Given the description of an element on the screen output the (x, y) to click on. 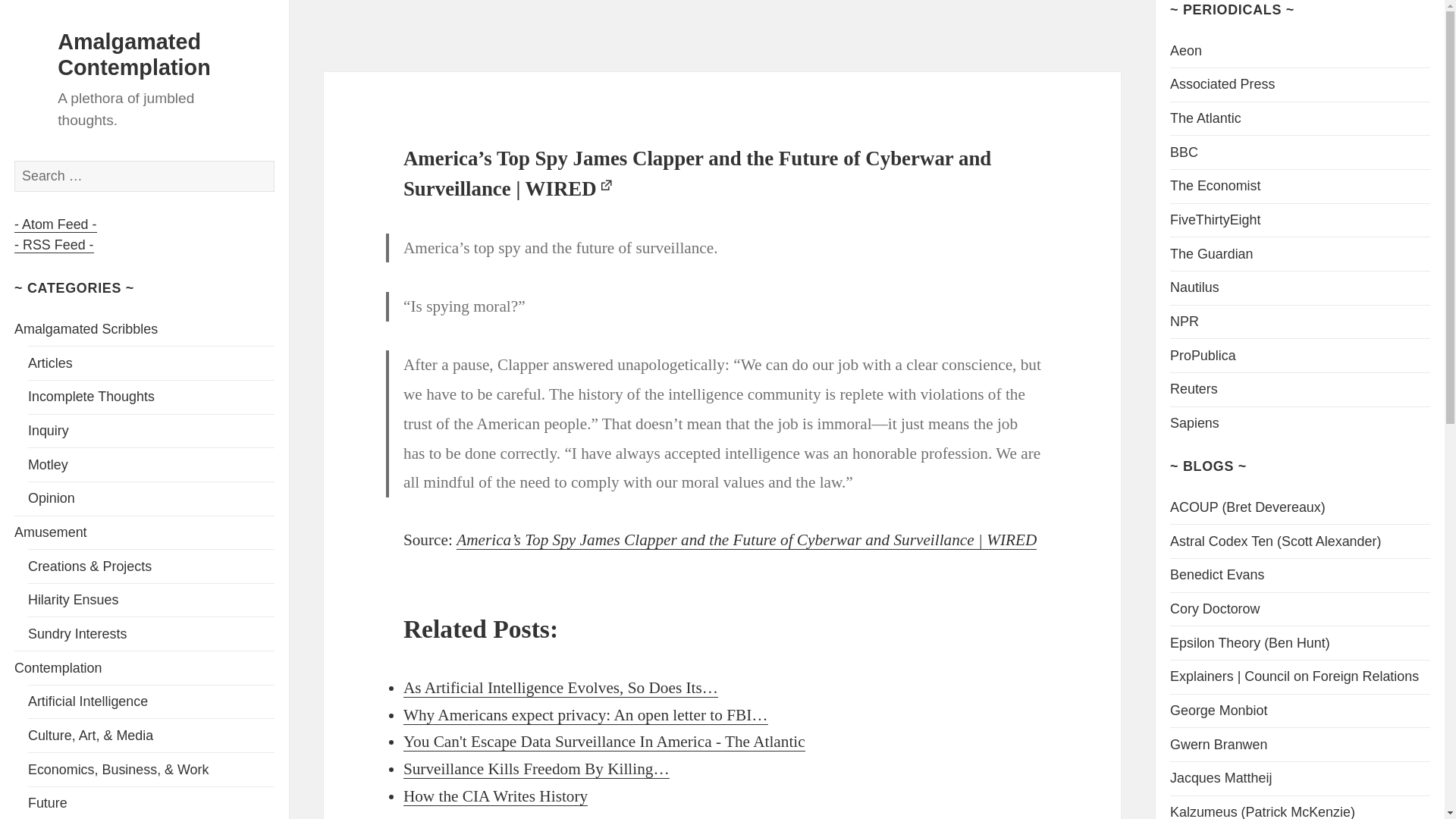
Future (46, 802)
Inquiry (47, 430)
Amalgamated Scribbles (85, 328)
Opinion (51, 498)
Artificial Intelligence (87, 701)
Hilarity Ensues (72, 599)
Motley (47, 464)
Incomplete Thoughts (90, 396)
